Given the description of an element on the screen output the (x, y) to click on. 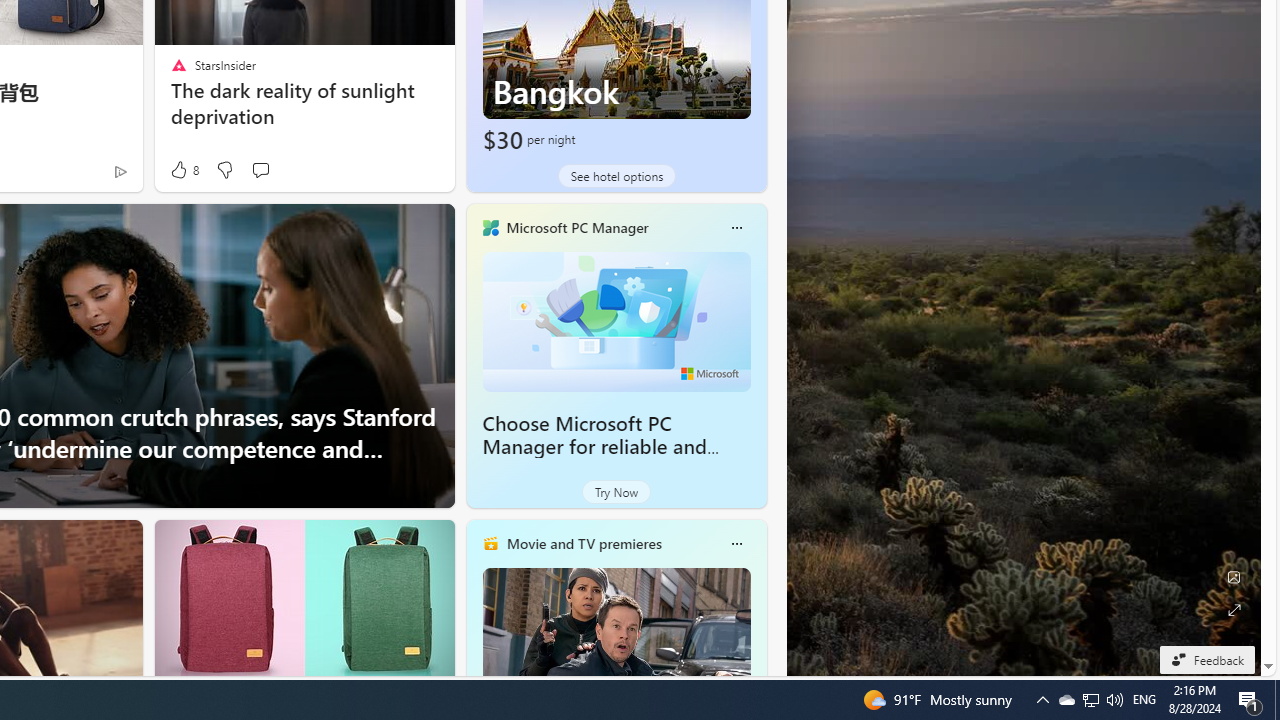
8 Like (183, 170)
Try Now (616, 491)
